Given the description of an element on the screen output the (x, y) to click on. 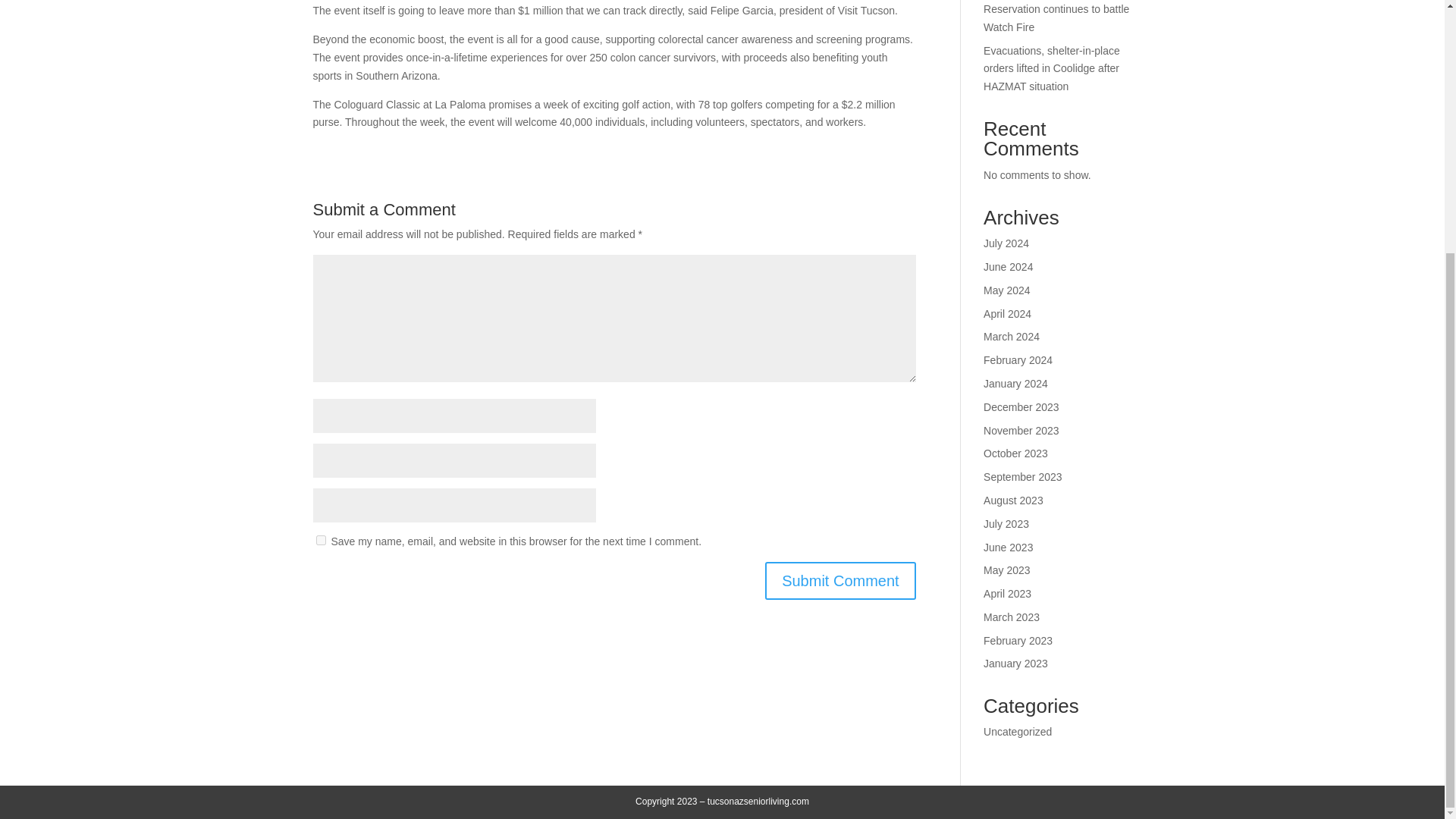
June 2023 (1008, 547)
January 2024 (1016, 383)
January 2023 (1016, 663)
May 2024 (1006, 290)
April 2023 (1007, 593)
September 2023 (1023, 476)
December 2023 (1021, 407)
February 2023 (1018, 640)
March 2023 (1011, 616)
Submit Comment (840, 580)
March 2024 (1011, 336)
August 2023 (1013, 500)
October 2023 (1016, 453)
